Given the description of an element on the screen output the (x, y) to click on. 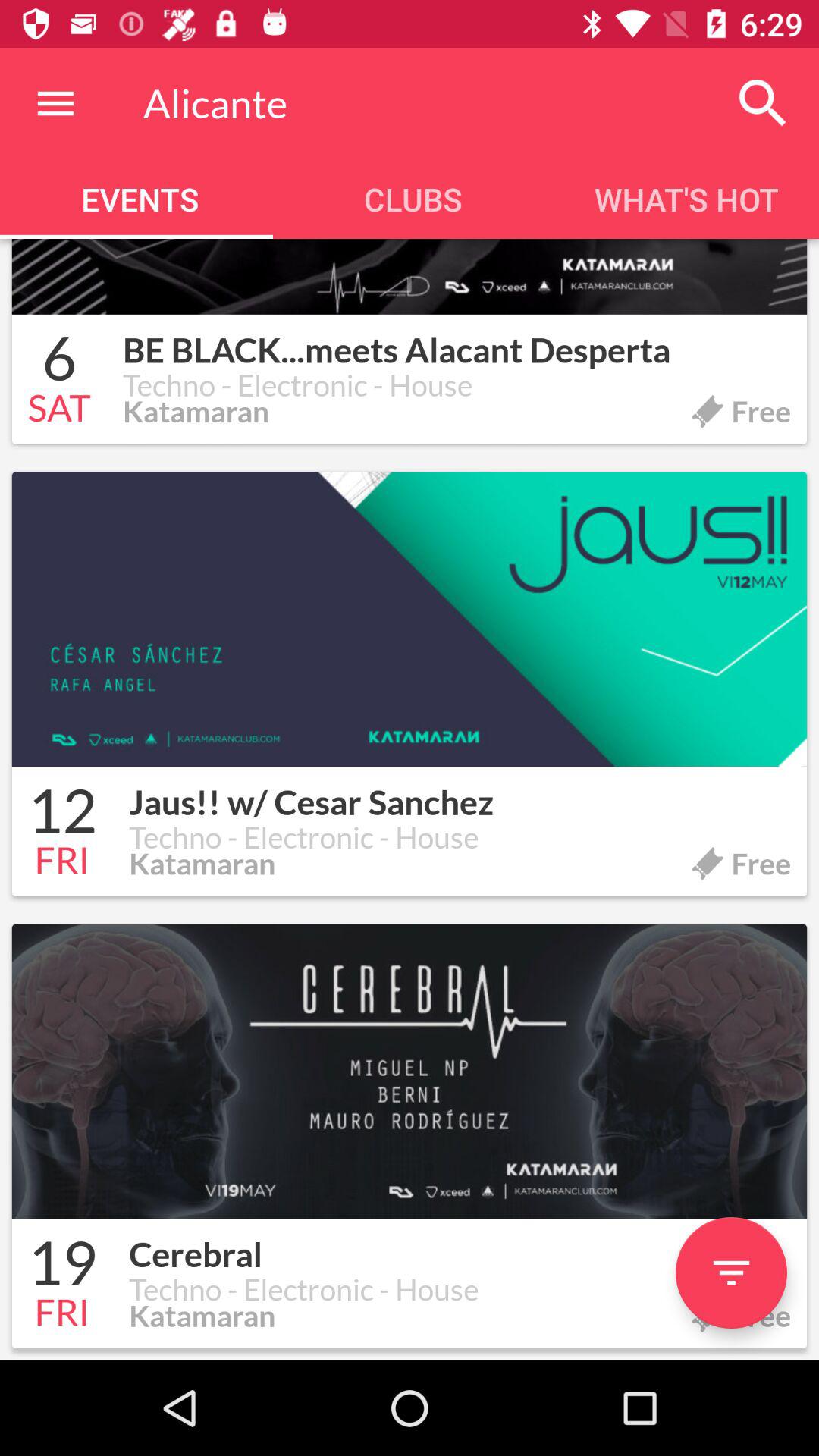
open the 19 (62, 1265)
